Given the description of an element on the screen output the (x, y) to click on. 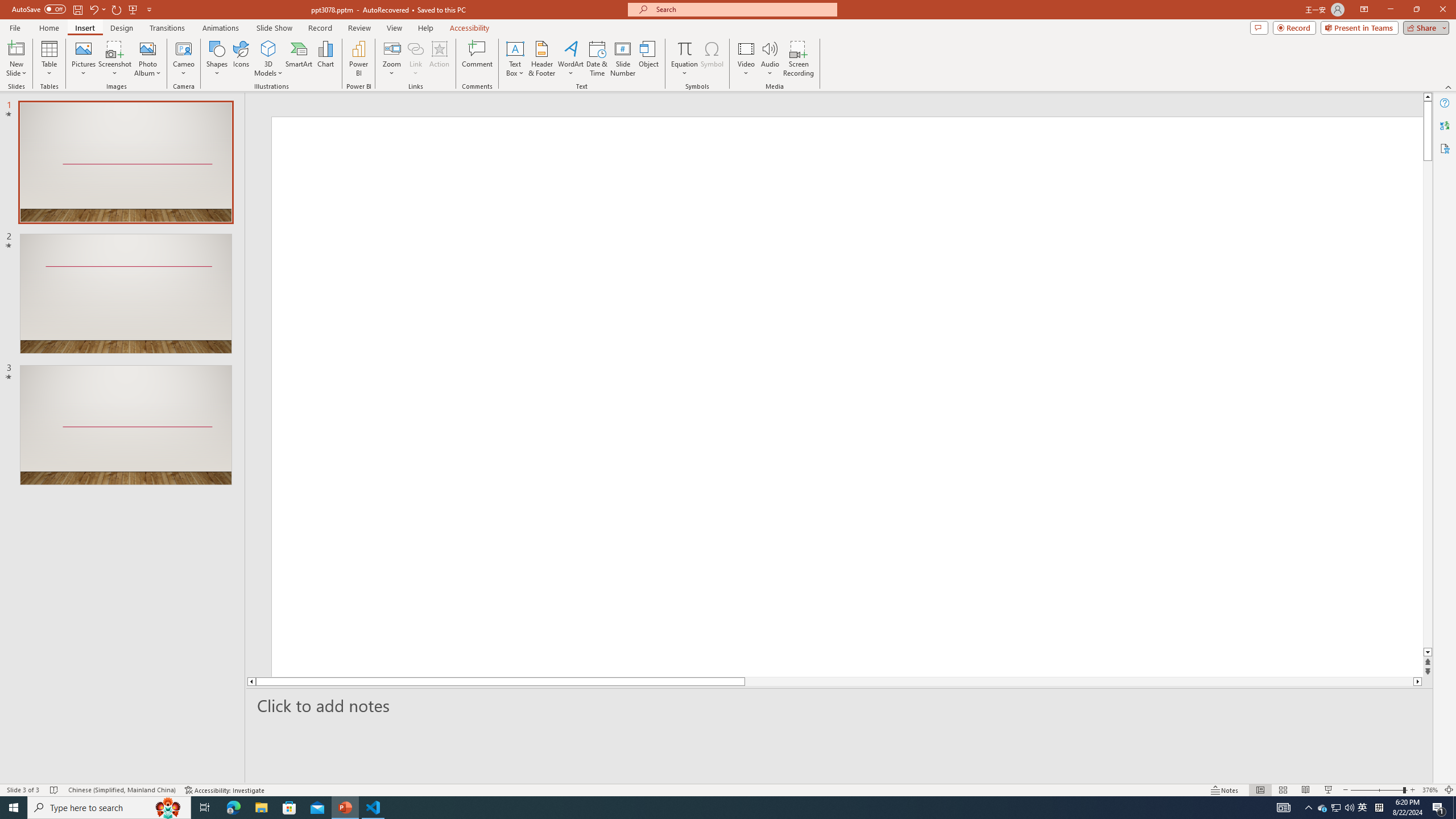
Draw Horizontal Text Box (515, 48)
Title TextBox (790, 476)
Table (49, 58)
Icons (240, 58)
Comment (476, 58)
